Given the description of an element on the screen output the (x, y) to click on. 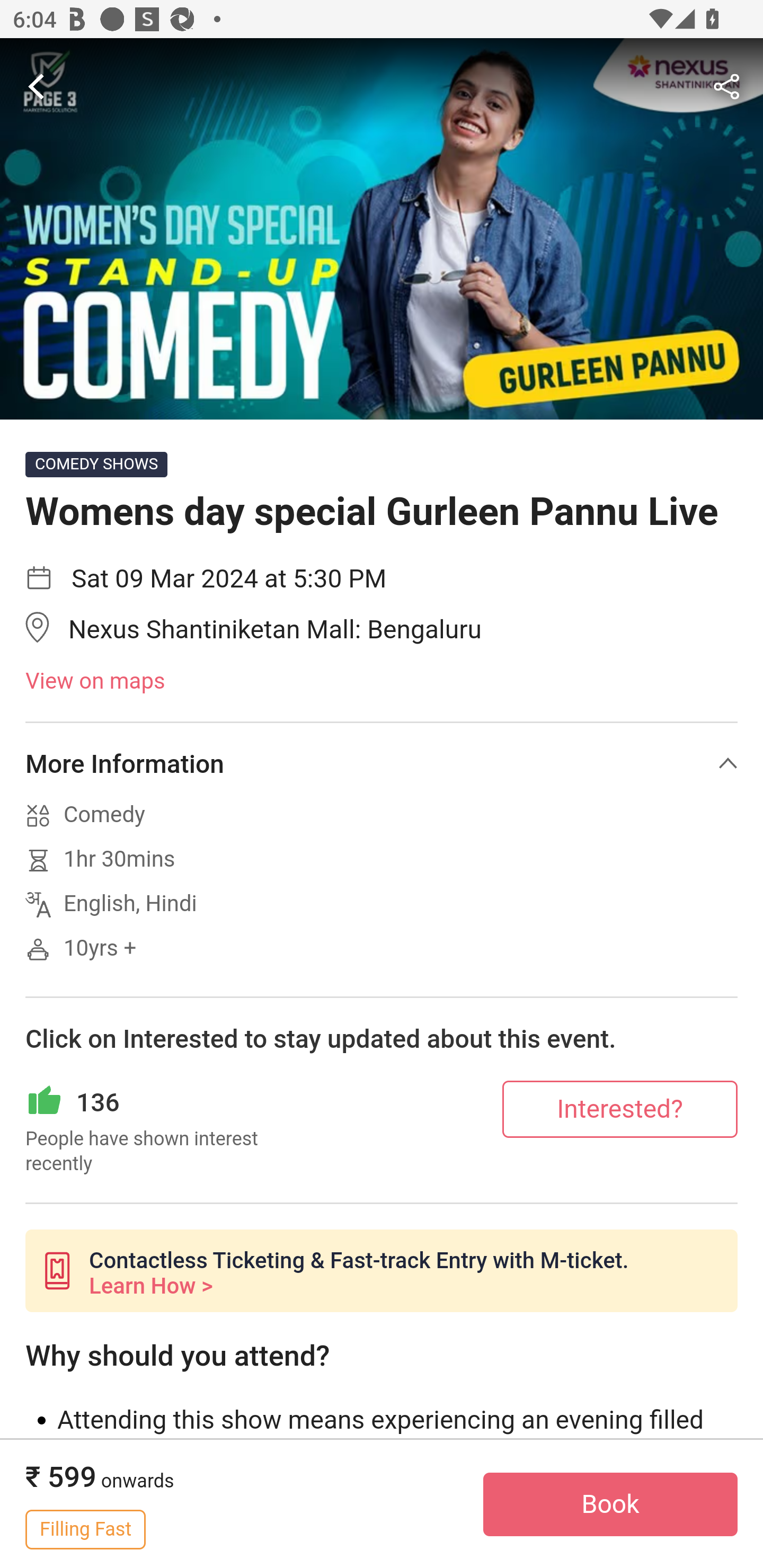
View on maps (381, 681)
More Information (381, 763)
Interested? (619, 1108)
Learn How > (150, 1286)
Book (609, 1504)
